Given the description of an element on the screen output the (x, y) to click on. 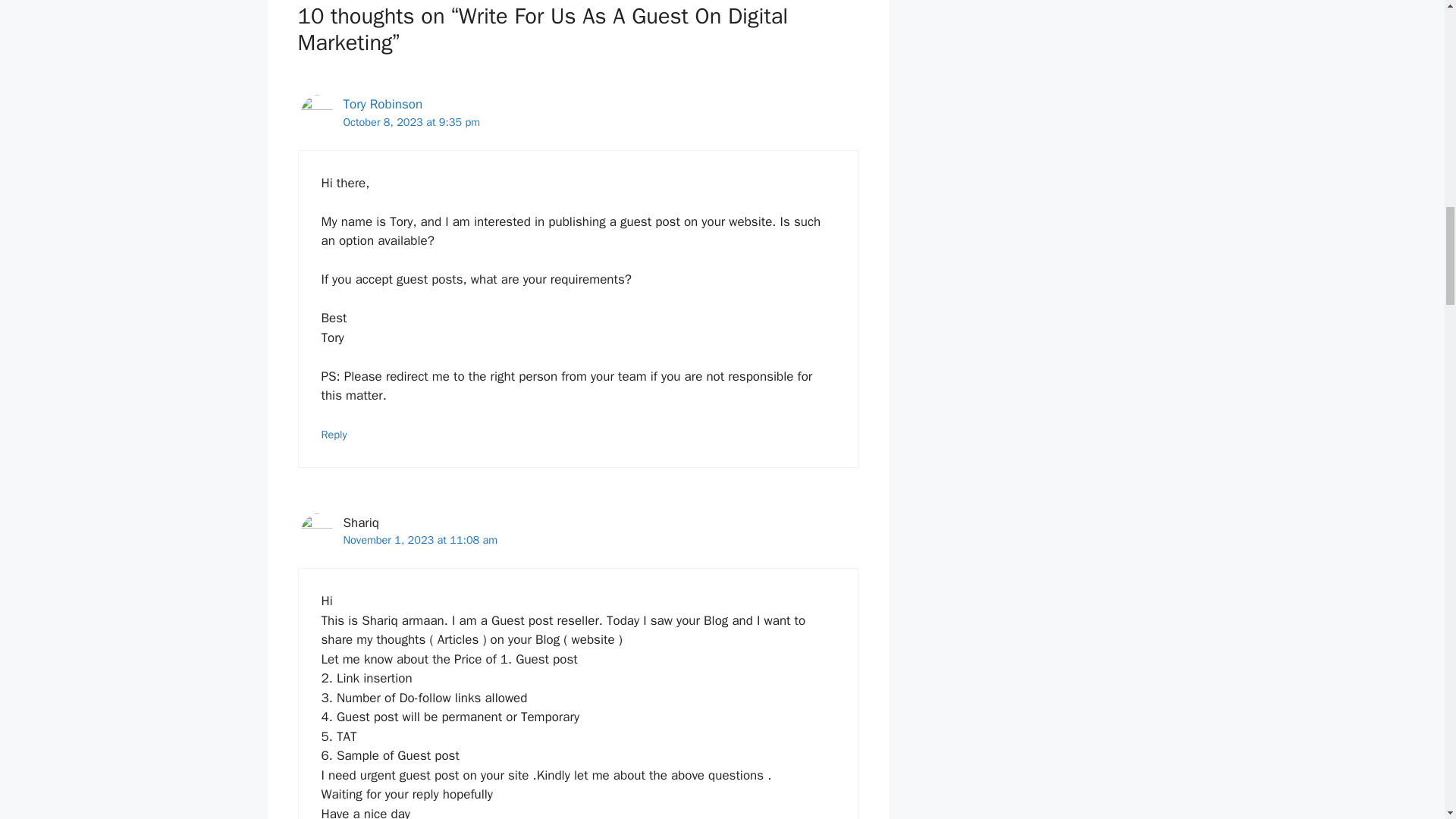
November 1, 2023 at 11:08 am (419, 540)
Tory Robinson (382, 104)
Reply (334, 434)
October 8, 2023 at 9:35 pm (411, 121)
